Given the description of an element on the screen output the (x, y) to click on. 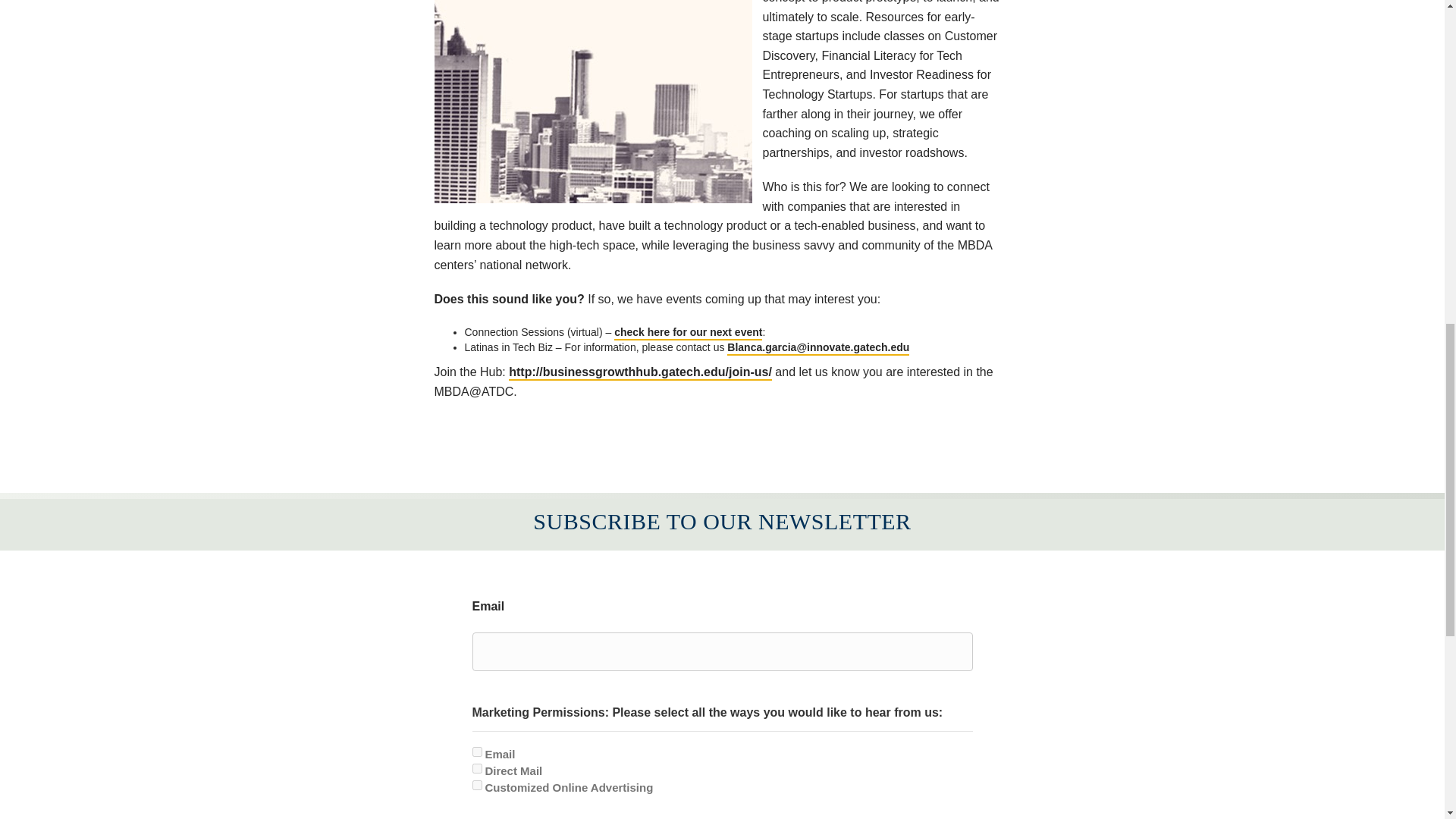
Email (476, 751)
check here for our next event (687, 332)
Direct Mail (476, 768)
Customized Online Advertising (476, 785)
